Given the description of an element on the screen output the (x, y) to click on. 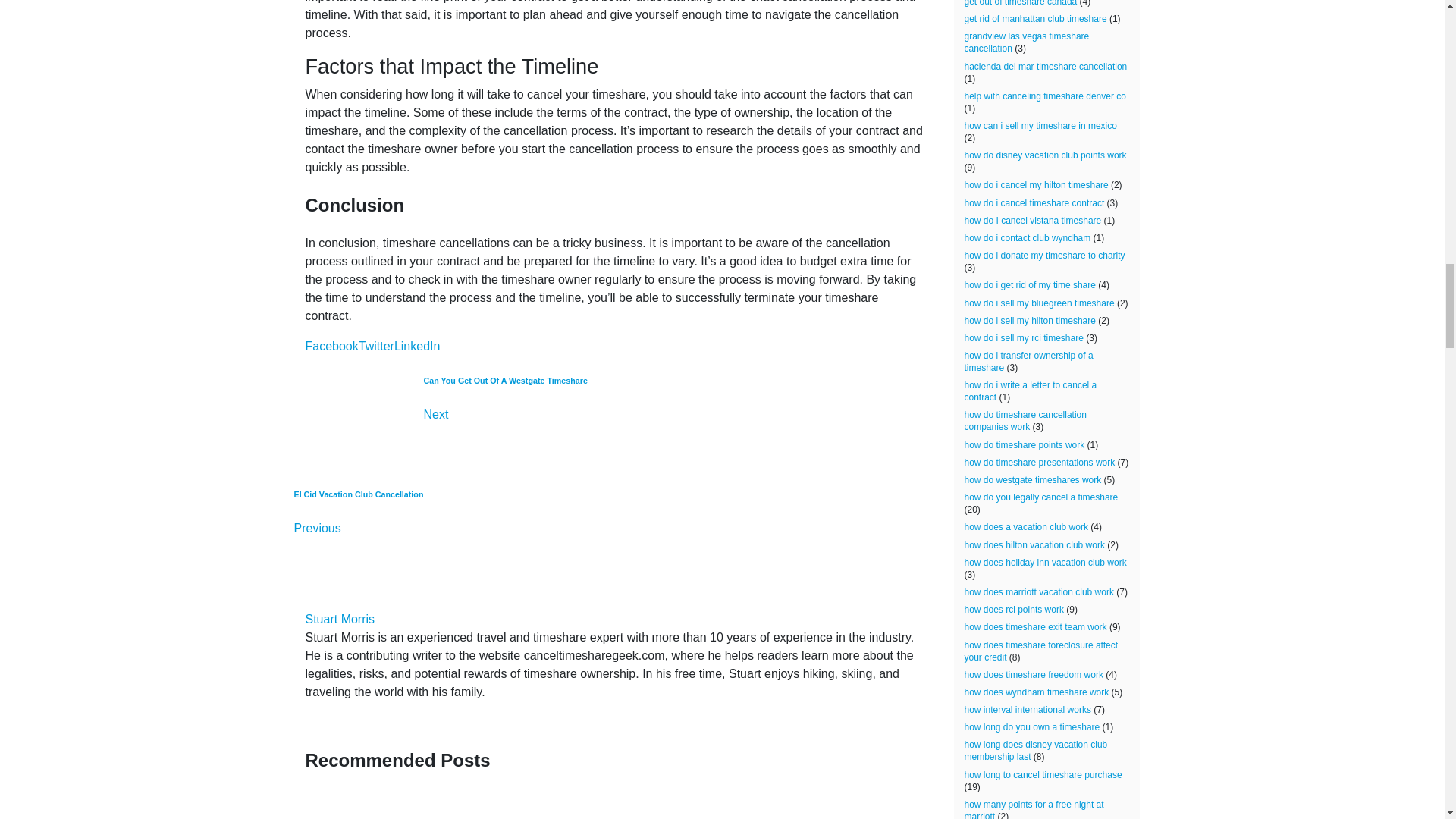
How Long Do I Have To Cancel A Timeshare Contract (407, 804)
Facebook (331, 345)
Twitter (376, 345)
Stuart Morris (339, 618)
Can You Get Out Of A Westgate Timeshare (504, 446)
Timeshare Cancellation 7 Business Day (635, 804)
LinkedIn (504, 446)
